Given the description of an element on the screen output the (x, y) to click on. 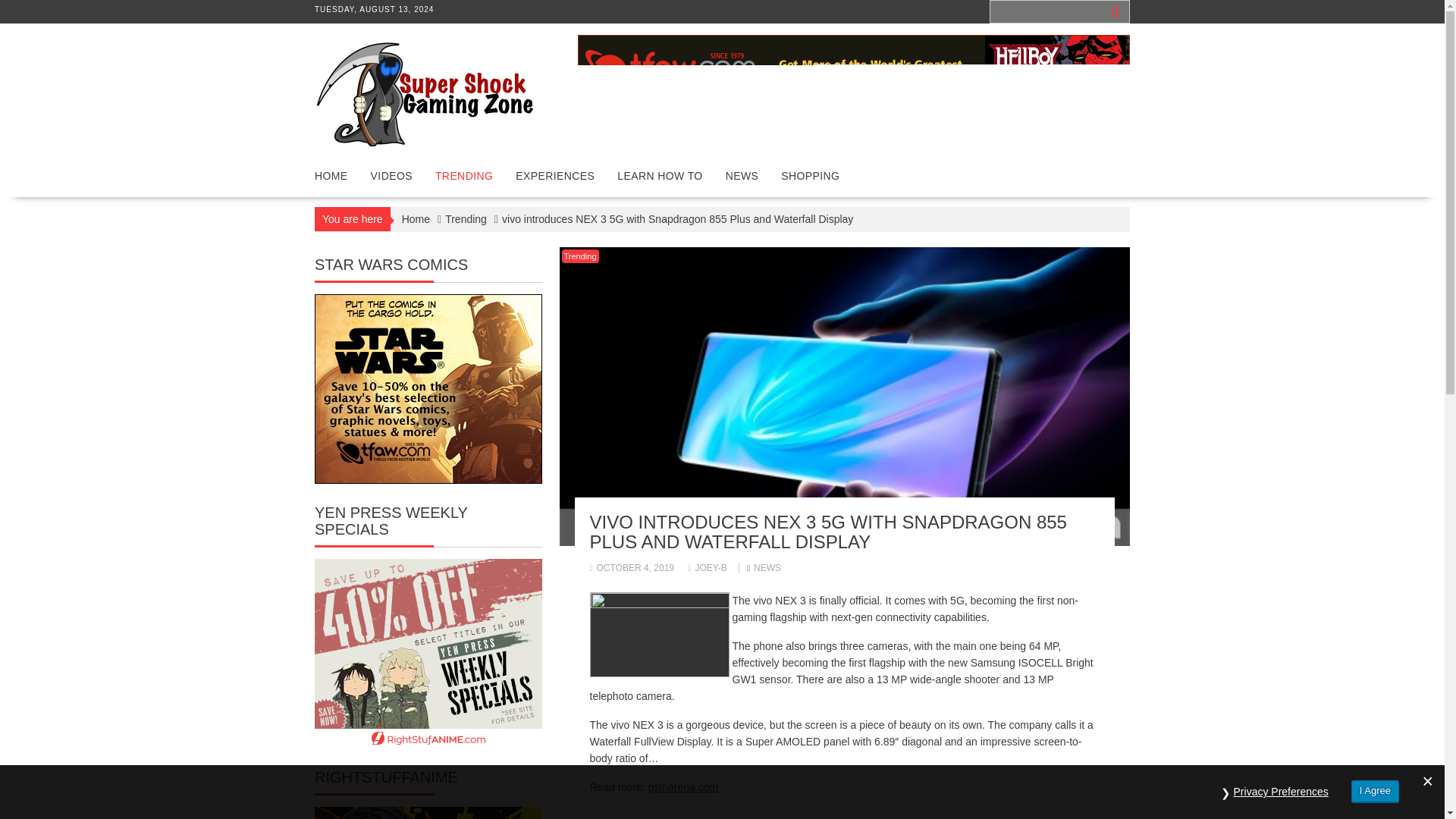
OCTOBER 4, 2019 (632, 567)
NEWS (767, 567)
JOEY-B (706, 567)
EXPERIENCES (554, 176)
NEWS (742, 176)
TRENDING (463, 176)
HOME (330, 176)
Trending (579, 255)
SHOPPING (810, 176)
Trending (465, 218)
